Given the description of an element on the screen output the (x, y) to click on. 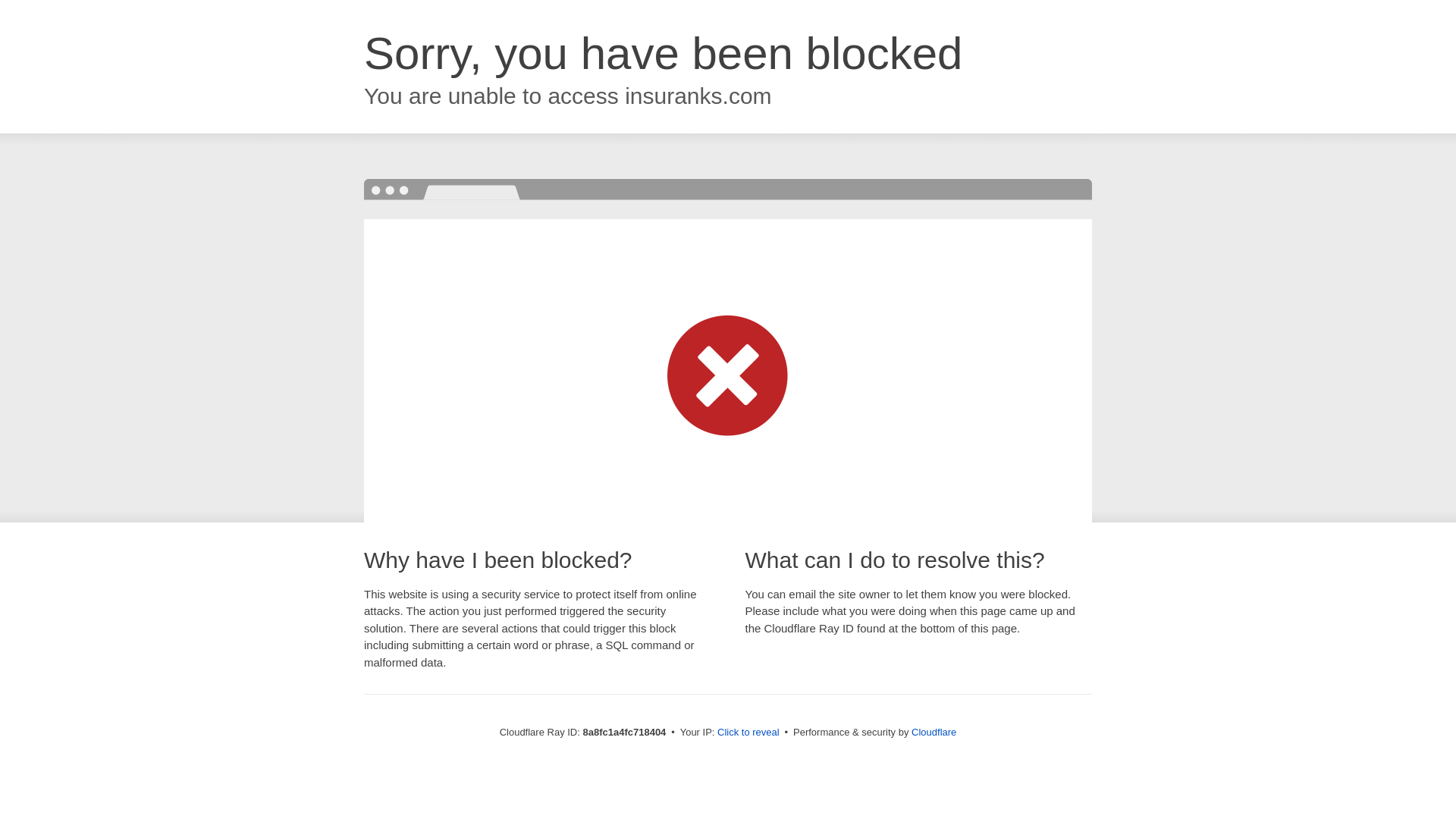
Cloudflare (933, 731)
Click to reveal (747, 732)
